Given the description of an element on the screen output the (x, y) to click on. 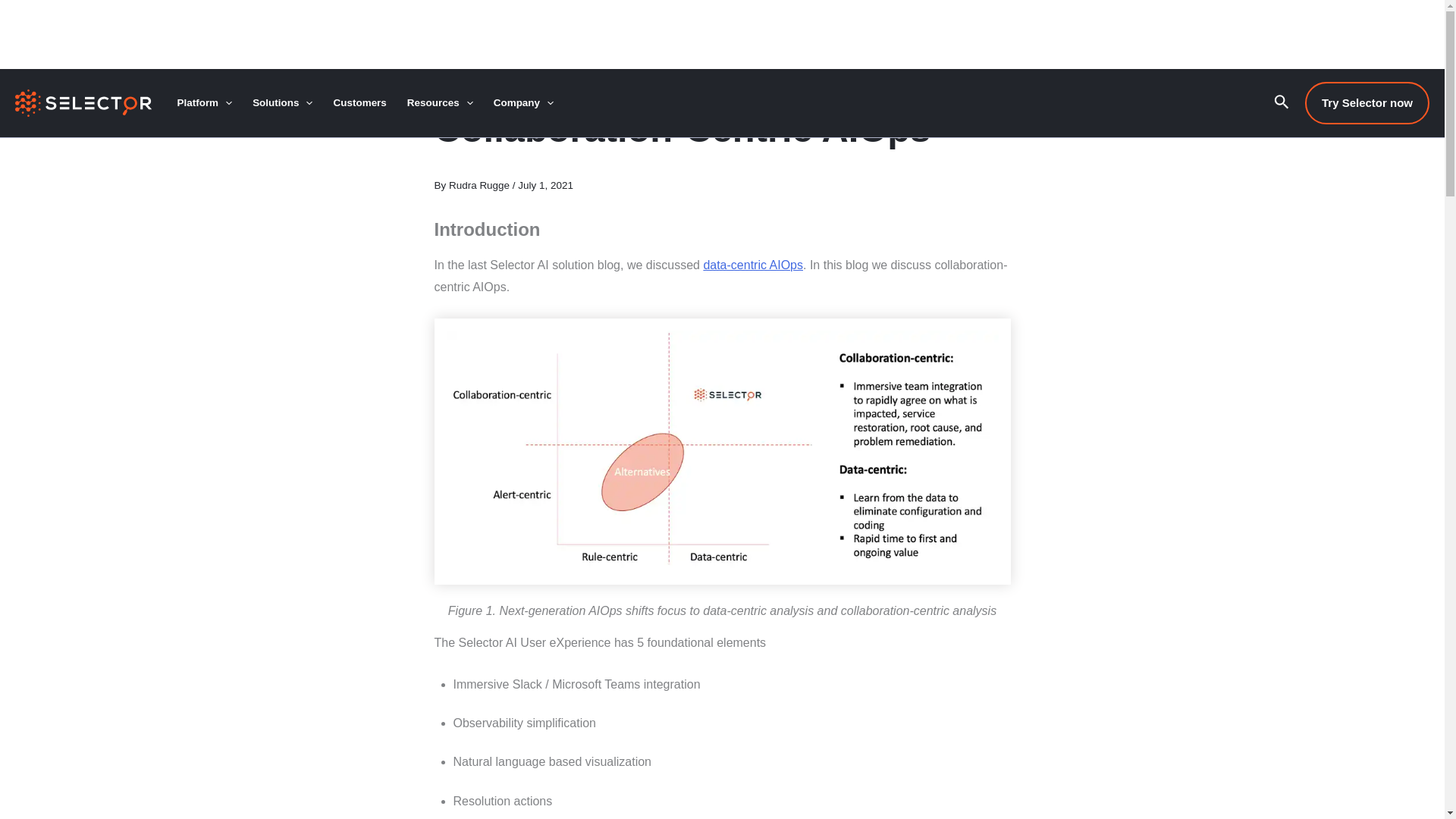
Resources (439, 102)
Platform (205, 102)
View all posts by Rudra Rugge (480, 184)
Customers (359, 102)
Solutions (283, 102)
Company (523, 102)
Solutions (283, 102)
Company (523, 102)
